Given the description of an element on the screen output the (x, y) to click on. 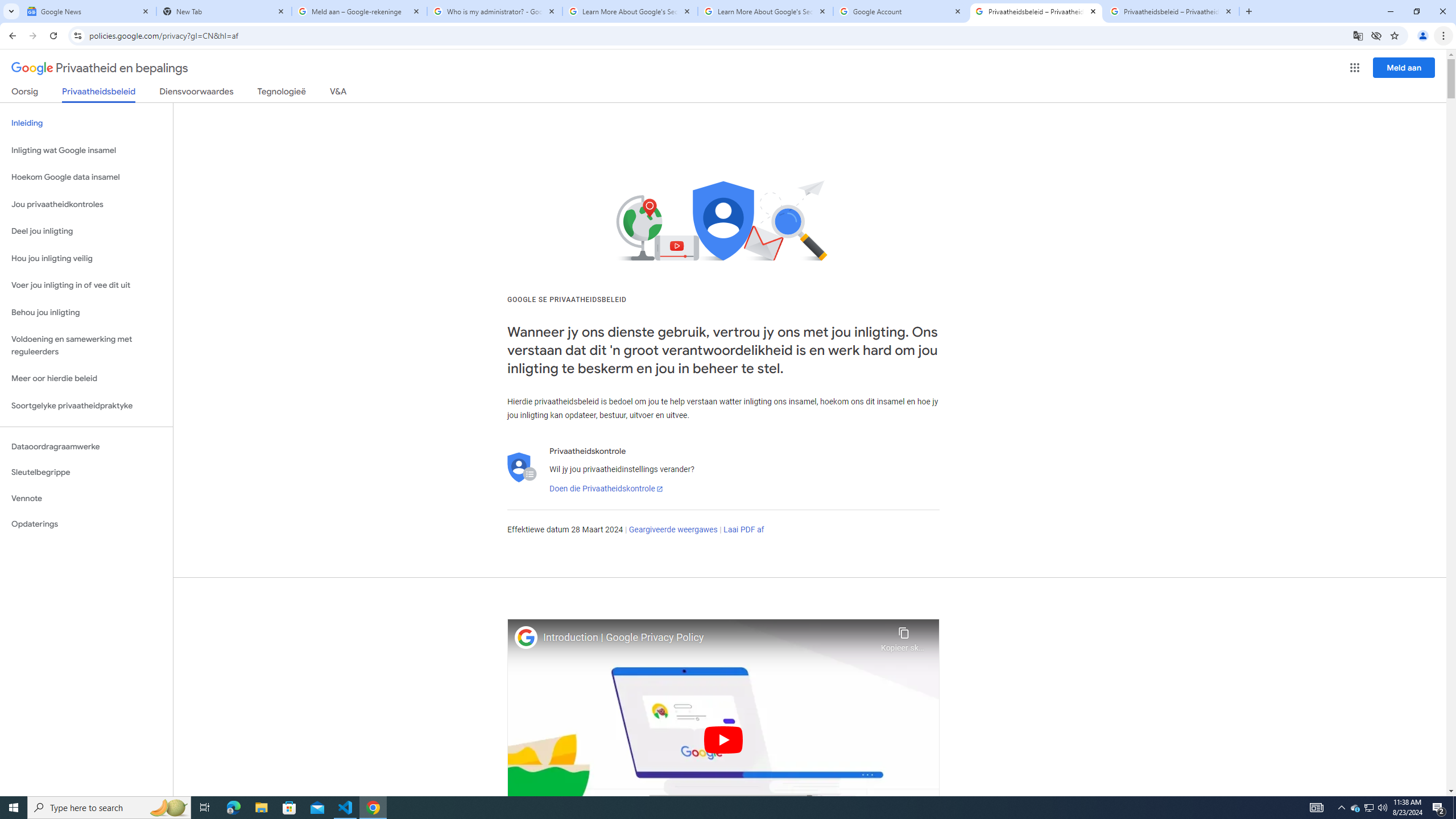
Introduction | Google Privacy Policy (709, 637)
Google News (88, 11)
Hoekom Google data insamel (86, 176)
Inleiding (86, 122)
Voldoening en samewerking met reguleerders (86, 345)
Vennote (86, 497)
Deel jou inligting (86, 230)
Sleutelbegrippe (86, 472)
Hou jou inligting veilig (86, 258)
